Given the description of an element on the screen output the (x, y) to click on. 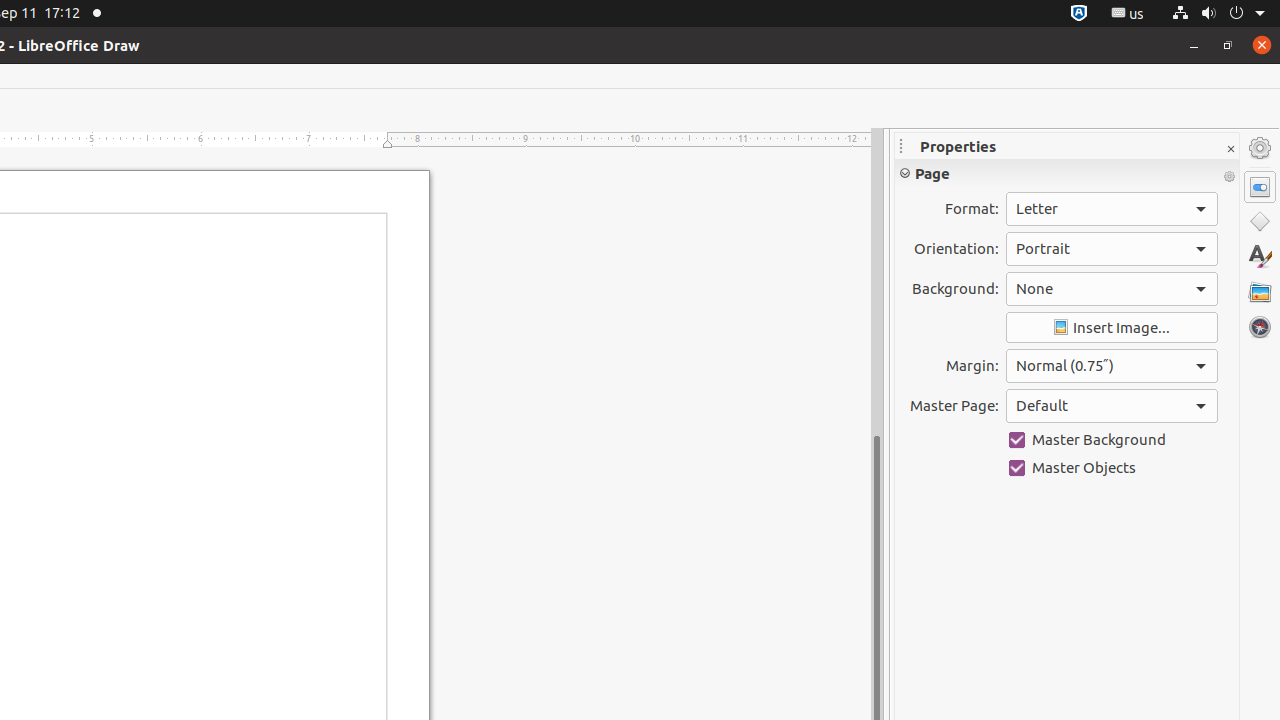
Master Objects Element type: check-box (1112, 468)
Shapes Element type: radio-button (1260, 222)
:1.21/StatusNotifierItem Element type: menu (1127, 13)
Margin: Element type: combo-box (1112, 366)
Gallery Element type: radio-button (1260, 292)
